Given the description of an element on the screen output the (x, y) to click on. 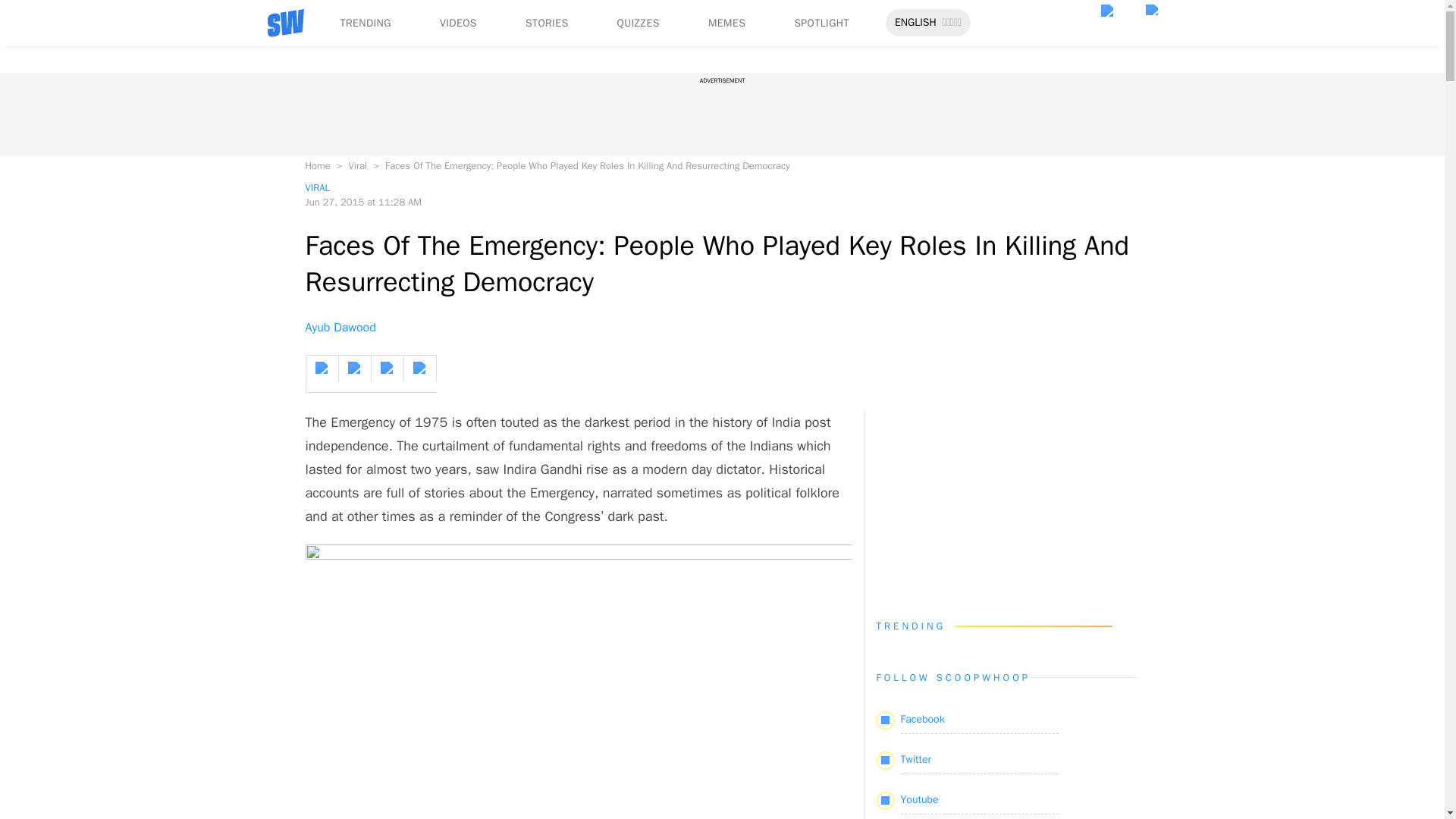
SPOTLIGHT (820, 22)
ENGLISH (915, 22)
STORIES (547, 22)
MEMES (726, 22)
TRENDING (364, 22)
VIDEOS (458, 22)
QUIZZES (638, 22)
